Given the description of an element on the screen output the (x, y) to click on. 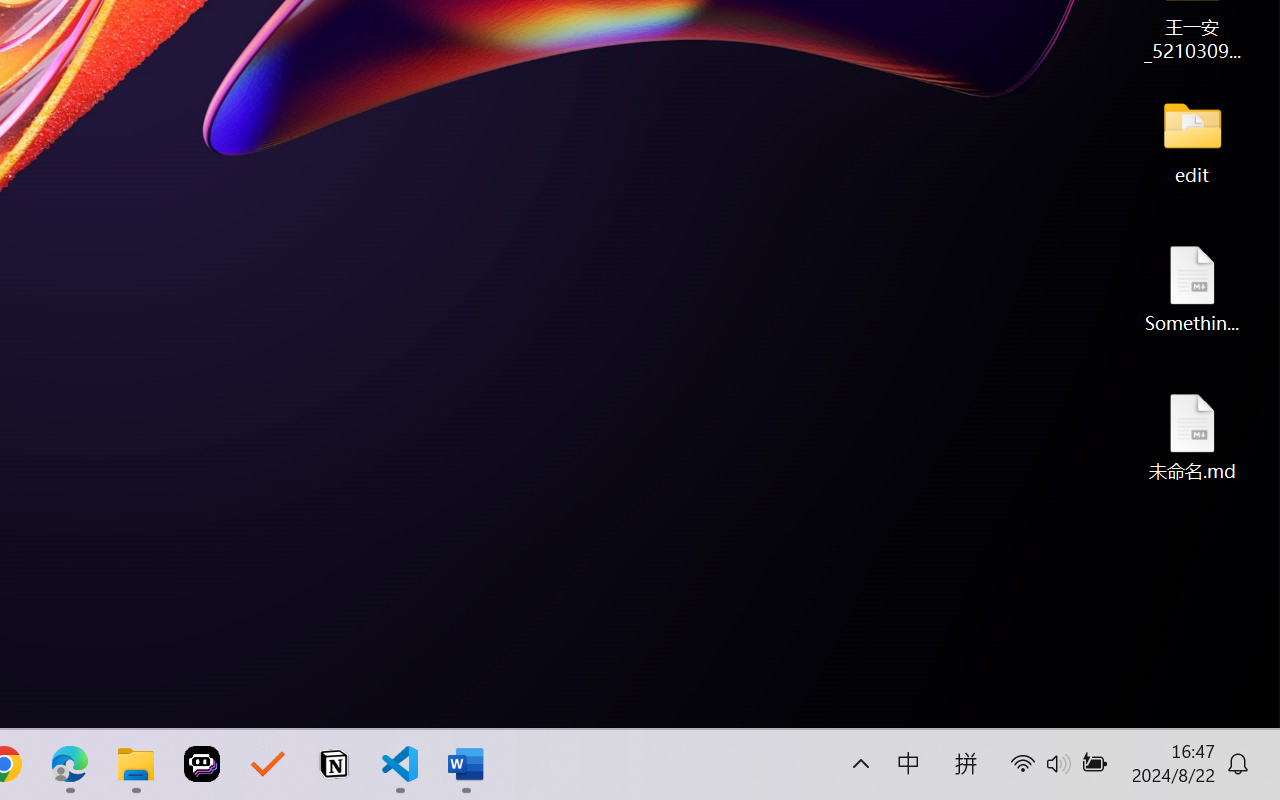
edit (1192, 140)
